Given the description of an element on the screen output the (x, y) to click on. 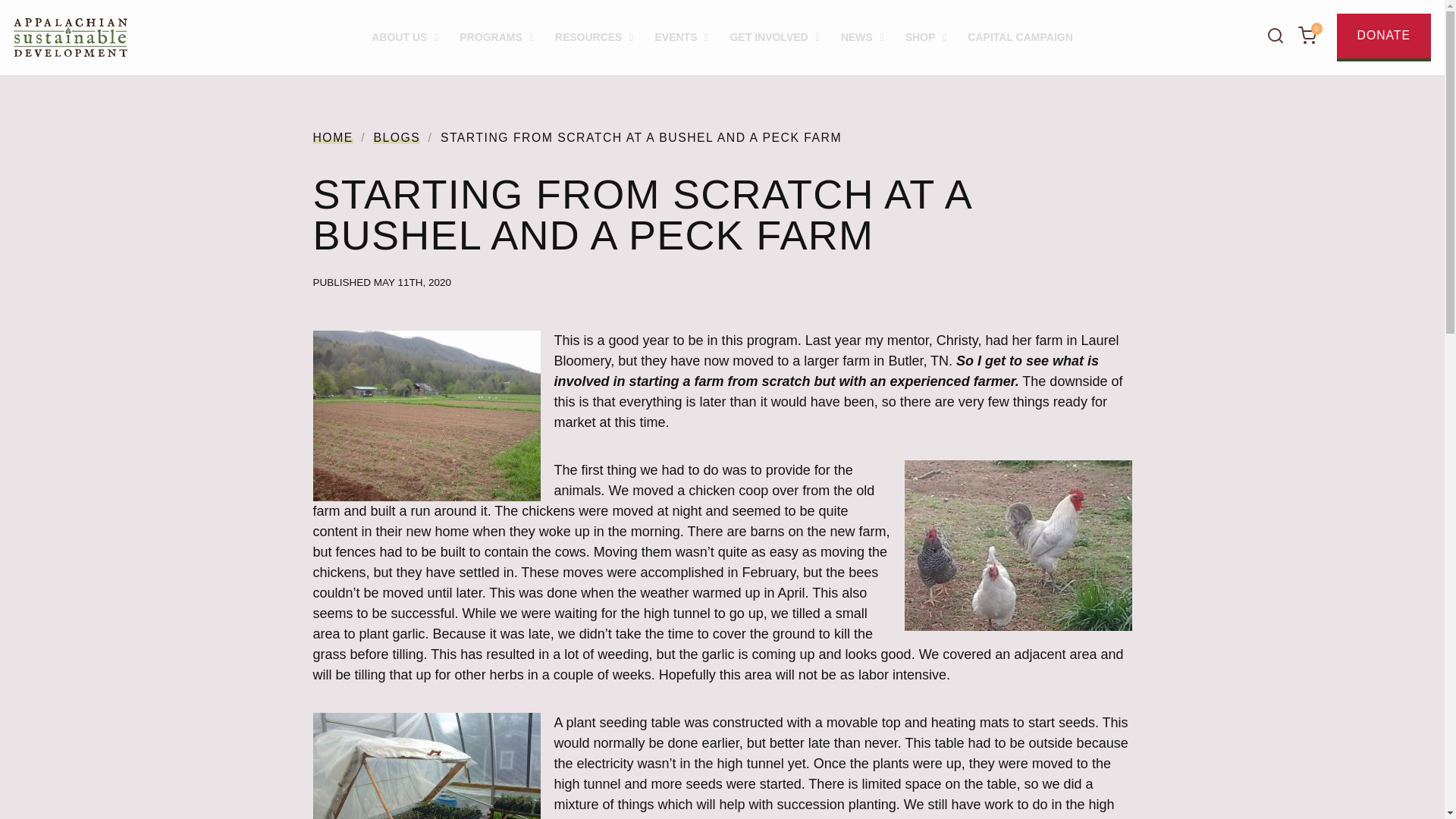
PROGRAMS (495, 36)
EVENTS (681, 36)
RESOURCES (594, 36)
ABOUT US (404, 36)
